Given the description of an element on the screen output the (x, y) to click on. 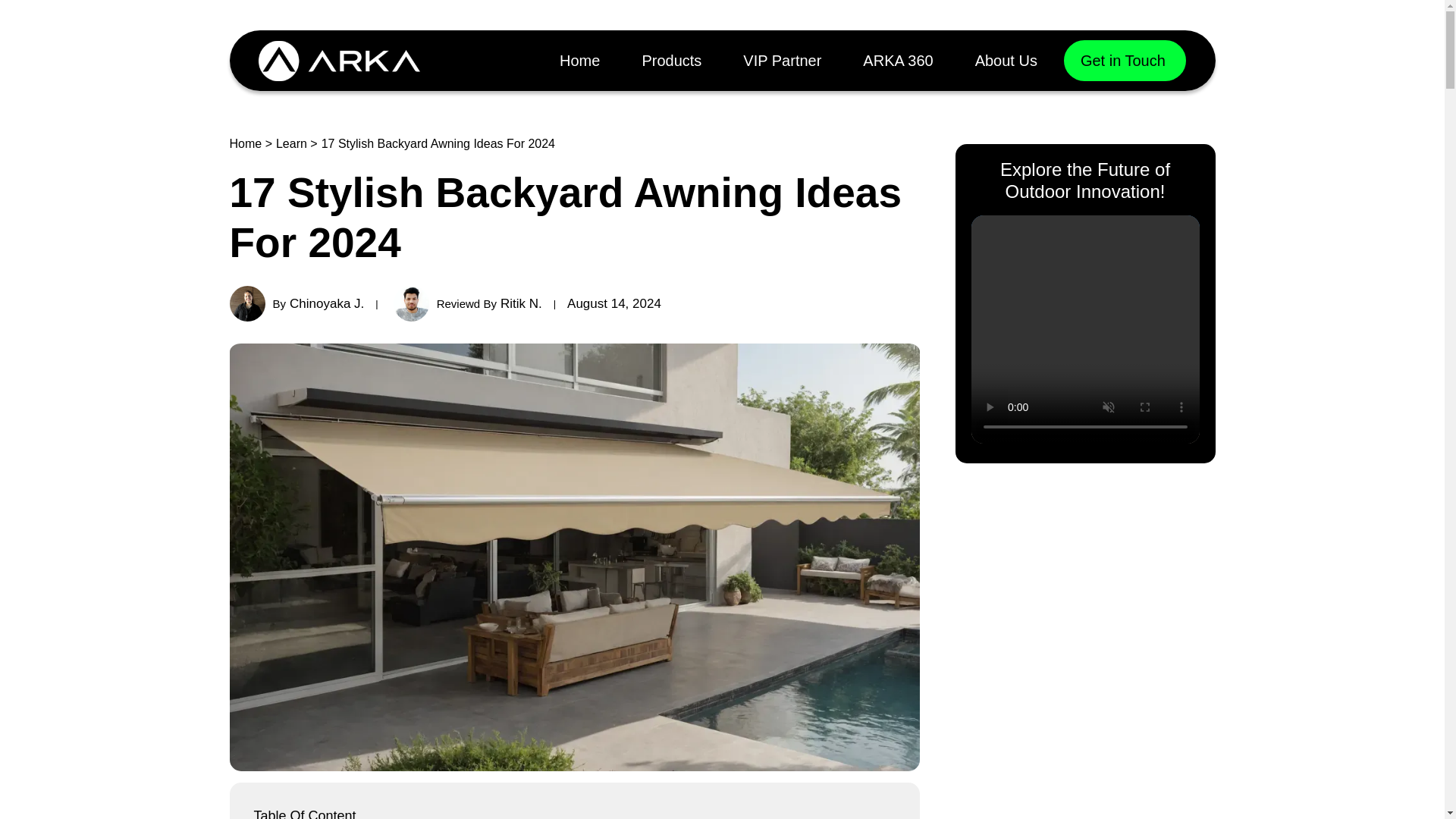
VIP Partner (485, 303)
Get in Touch  (781, 60)
ARKA 360 (1125, 60)
About Us (897, 60)
Products (1005, 60)
17 Stylish Backyard Awning Ideas For 2024 (671, 60)
Home (314, 303)
